Given the description of an element on the screen output the (x, y) to click on. 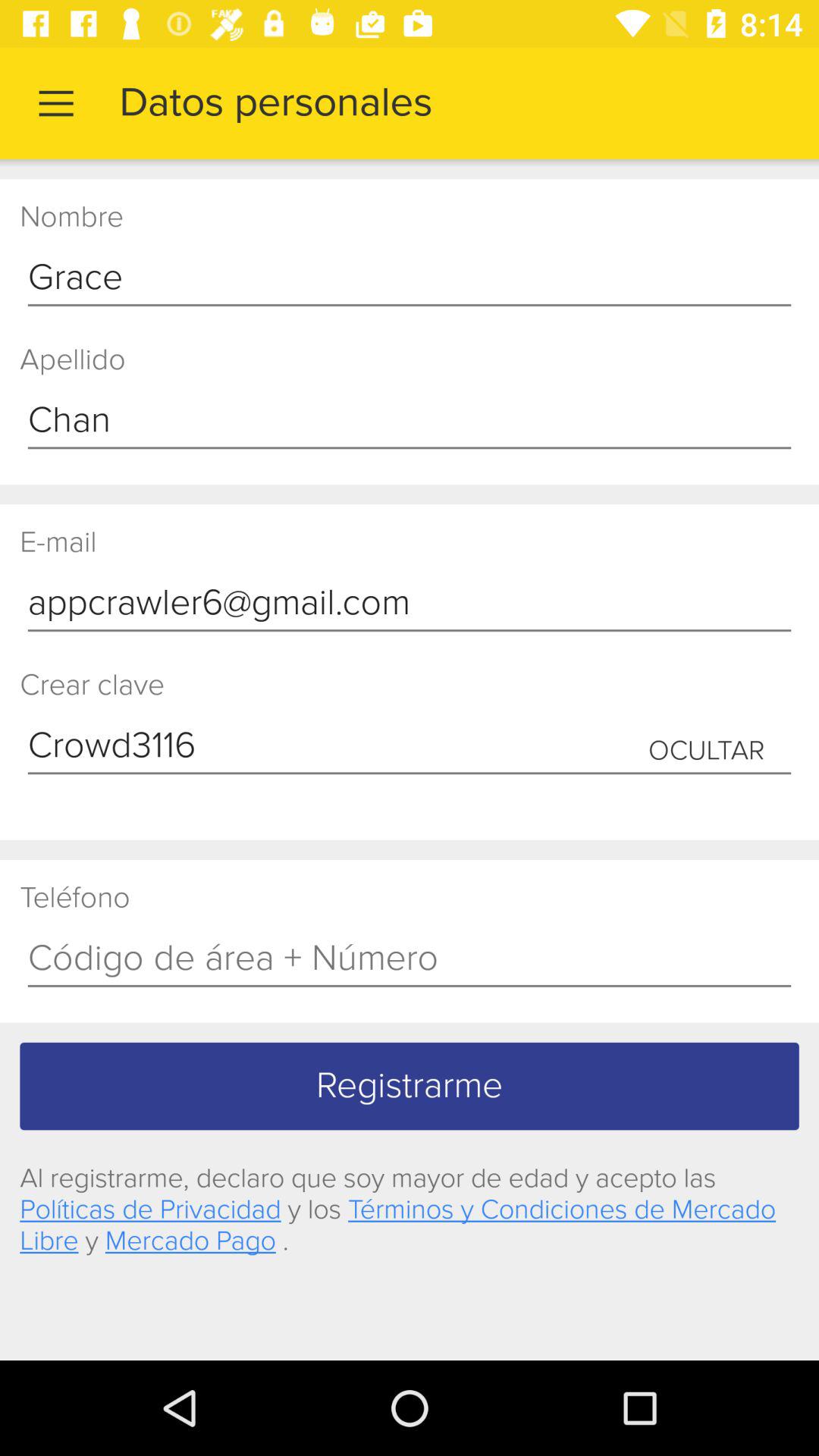
tap the crowd3116 item (409, 746)
